Given the description of an element on the screen output the (x, y) to click on. 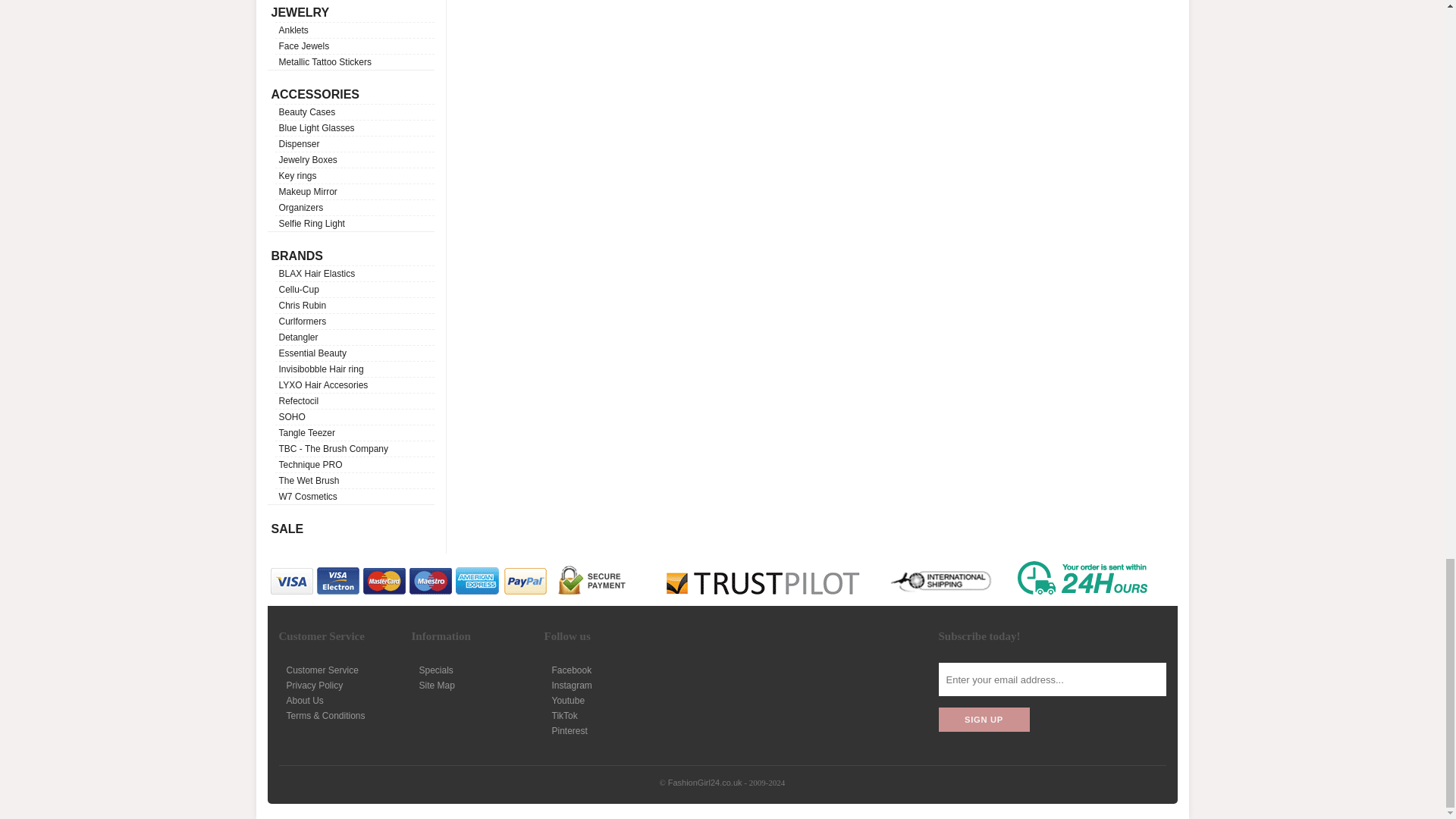
Sign up (984, 719)
